Given the description of an element on the screen output the (x, y) to click on. 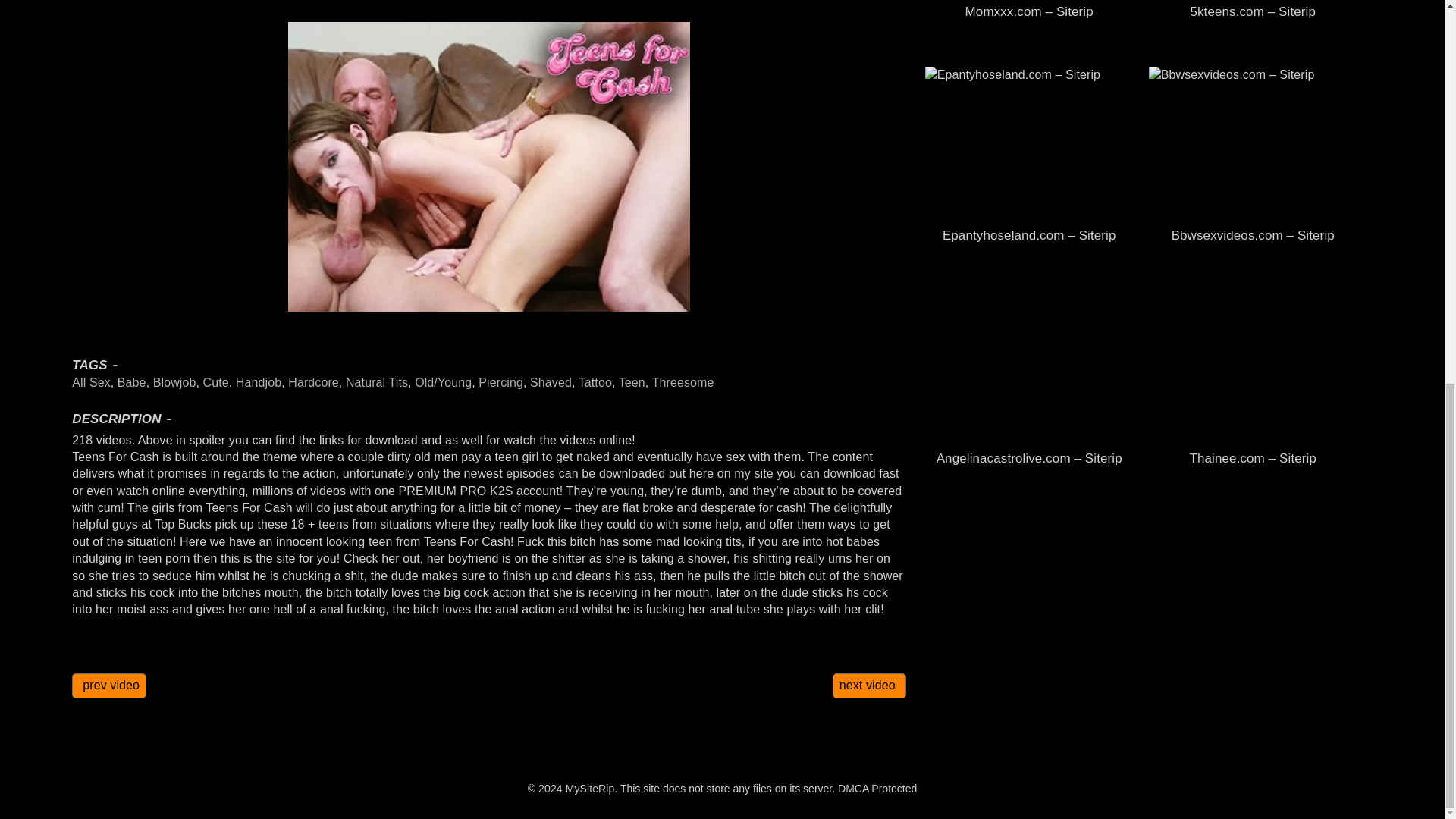
Blowjob (174, 382)
Handjob (258, 382)
All Sex (90, 382)
Teen (631, 382)
Tattoo (594, 382)
prev video (109, 685)
Shaved (550, 382)
Babe (132, 382)
Piercing (500, 382)
next video (868, 685)
